Given the description of an element on the screen output the (x, y) to click on. 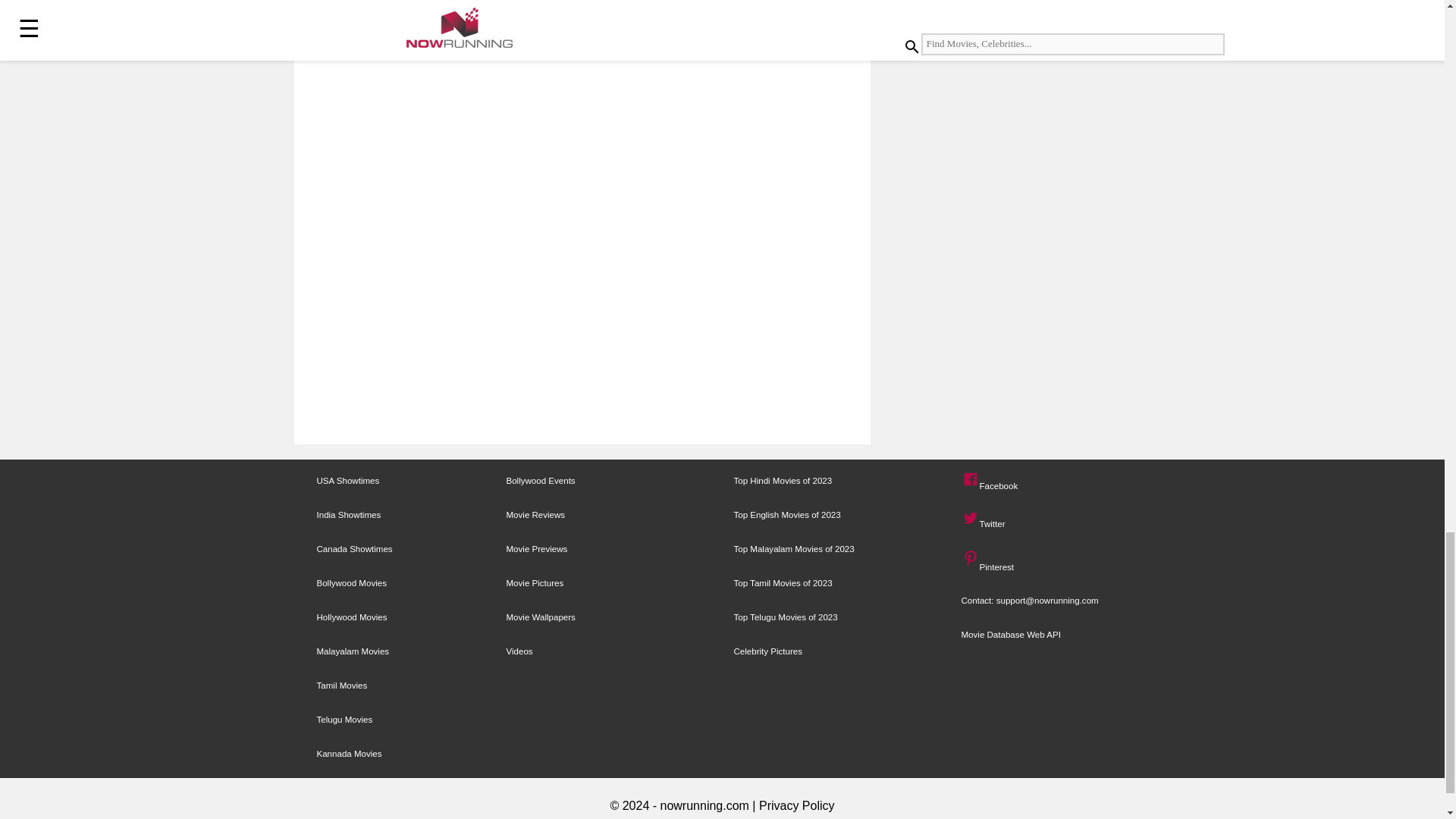
Facebook (969, 479)
India Showtimes (349, 514)
Kannada Movies (349, 753)
Movie Reviews (536, 514)
Bollywood Movies (352, 583)
Telugu Movies (344, 718)
Twitter (969, 518)
Canada Showtimes (355, 548)
Tamil Movies (342, 685)
Hollywood Movies (352, 616)
Malayalam Movies (353, 651)
Bollywood Events (540, 480)
Movie Previews (536, 548)
USA Showtimes (348, 480)
